Given the description of an element on the screen output the (x, y) to click on. 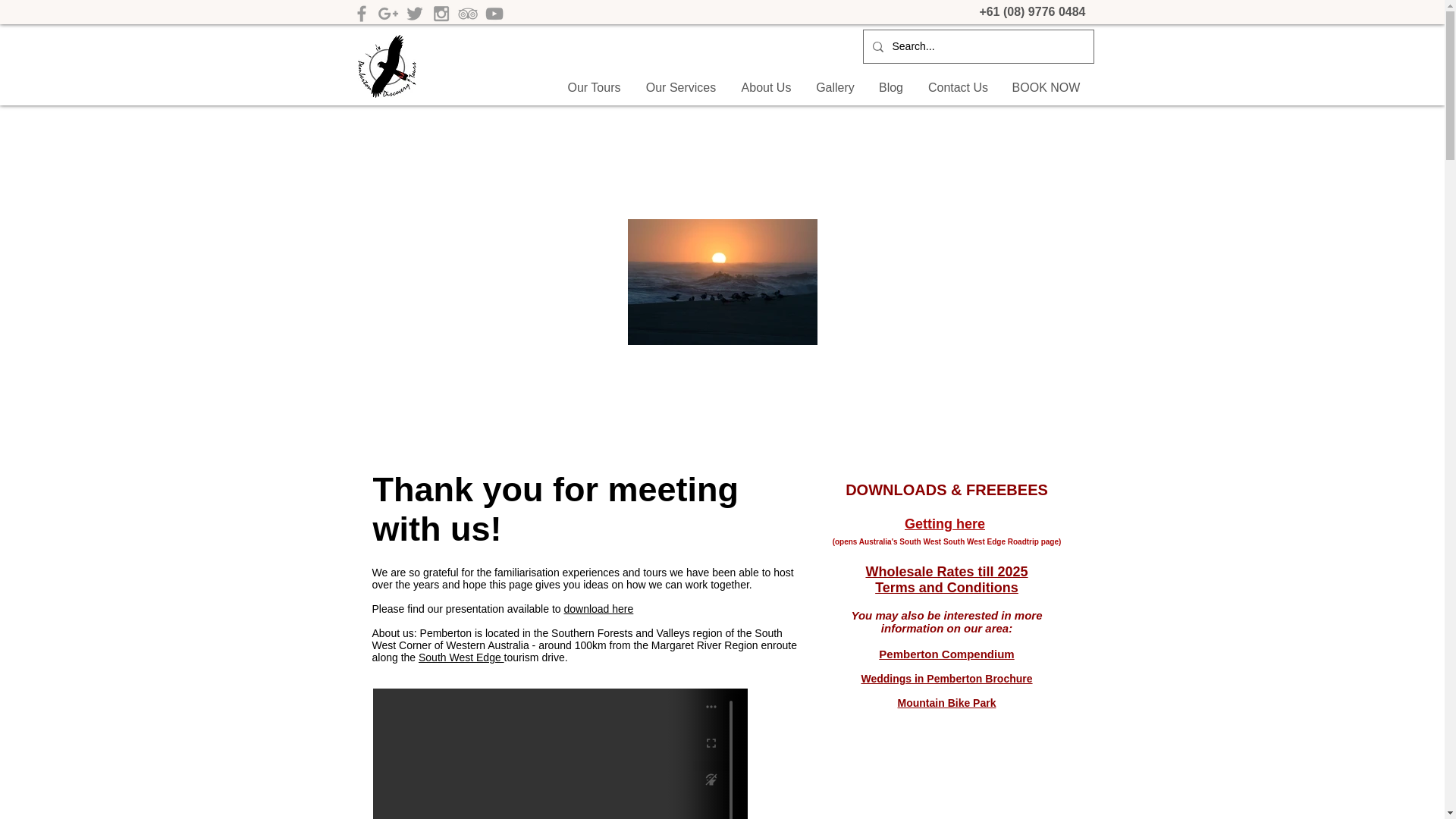
Contact Us (958, 87)
Our Services (681, 87)
Blog (890, 87)
Our Tours (593, 87)
BOOK NOW (1046, 87)
download here (598, 608)
About Us (765, 87)
The ultimate tour in the Southern Forests (387, 66)
Gallery (834, 87)
South West Edge (461, 657)
